Given the description of an element on the screen output the (x, y) to click on. 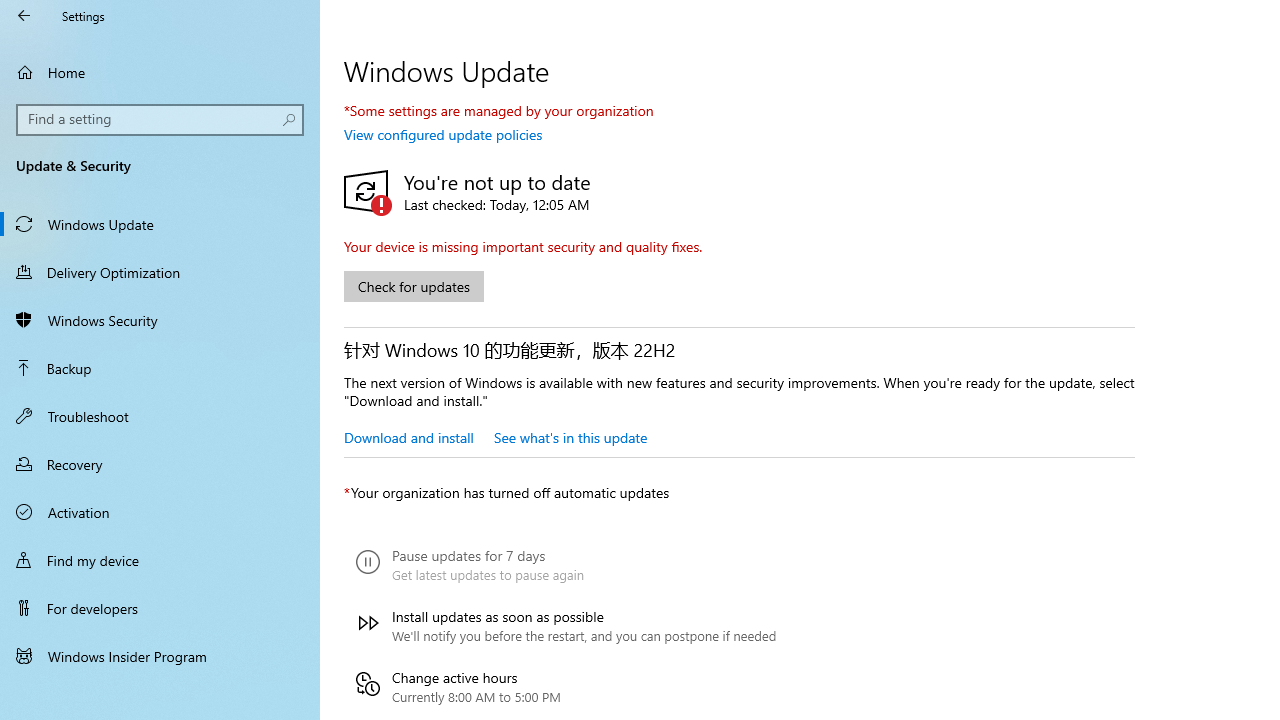
Pause updates for 7 days (566, 565)
Windows Insider Program (160, 655)
Activation (160, 511)
Find my device (160, 559)
Backup (160, 367)
Change active hours (566, 686)
View configured update policies (443, 134)
Delivery Optimization (160, 271)
Search box, Find a setting (160, 119)
See what's in this update (570, 437)
Download and install (408, 437)
For developers (160, 607)
Windows Update (160, 223)
